Given the description of an element on the screen output the (x, y) to click on. 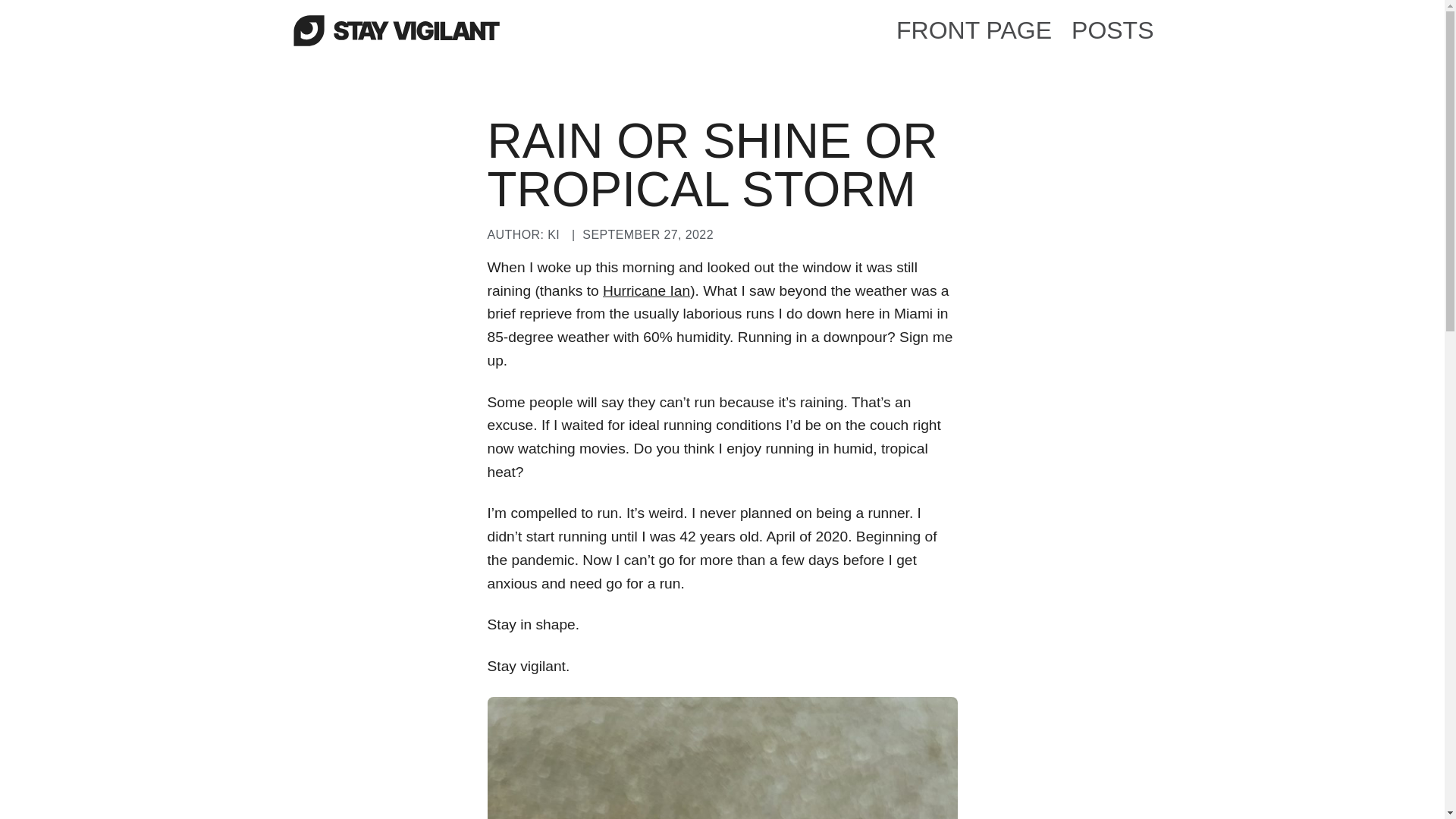
Hurricane Ian (646, 290)
POSTS (1112, 30)
FRONT PAGE (973, 30)
